Given the description of an element on the screen output the (x, y) to click on. 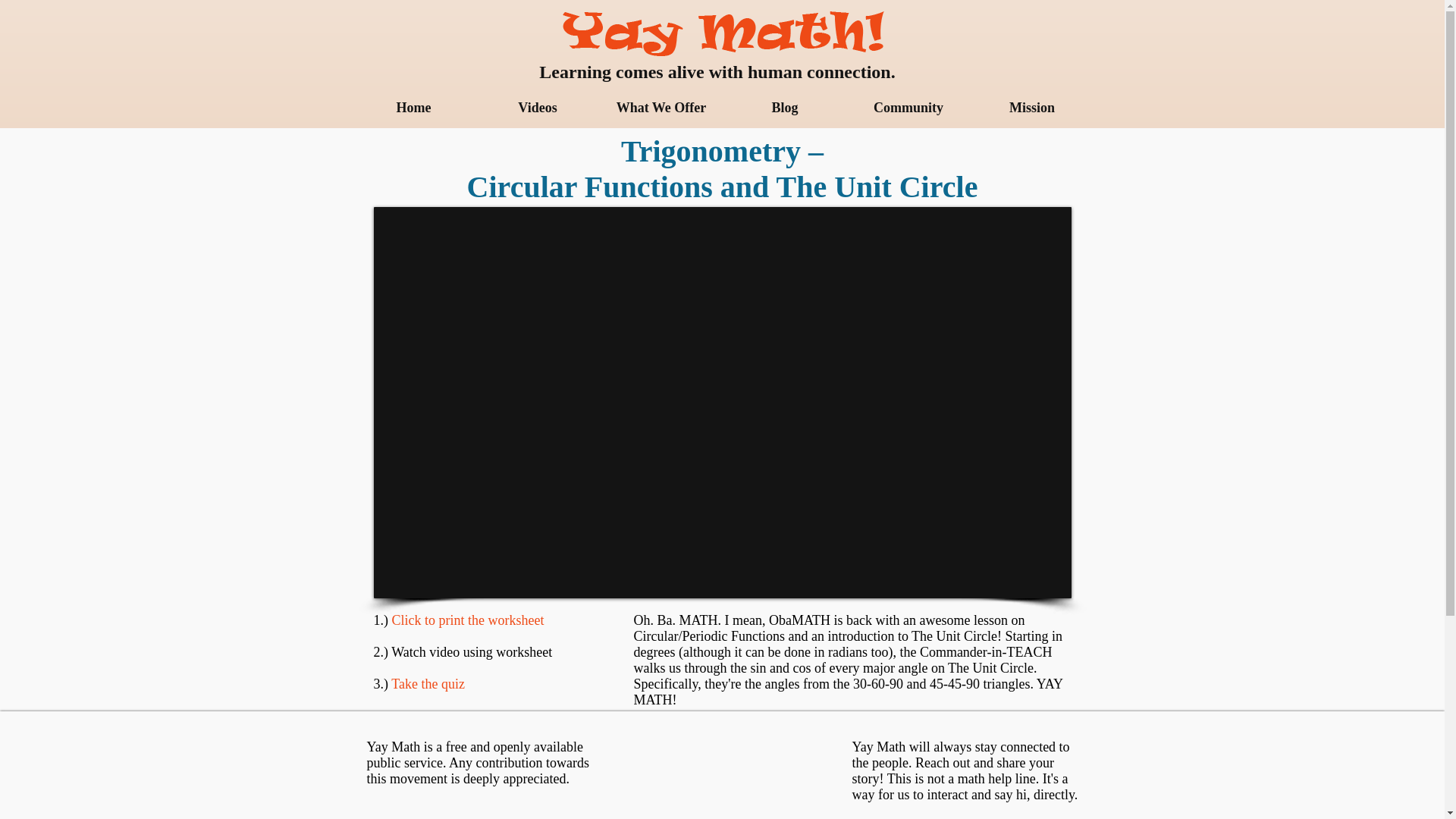
Home (414, 107)
Blog (785, 107)
Community (907, 107)
Videos (537, 107)
Click to print the worksheet (467, 620)
What We Offer (660, 107)
Take the quiz (427, 683)
Mission (1032, 107)
